Given the description of an element on the screen output the (x, y) to click on. 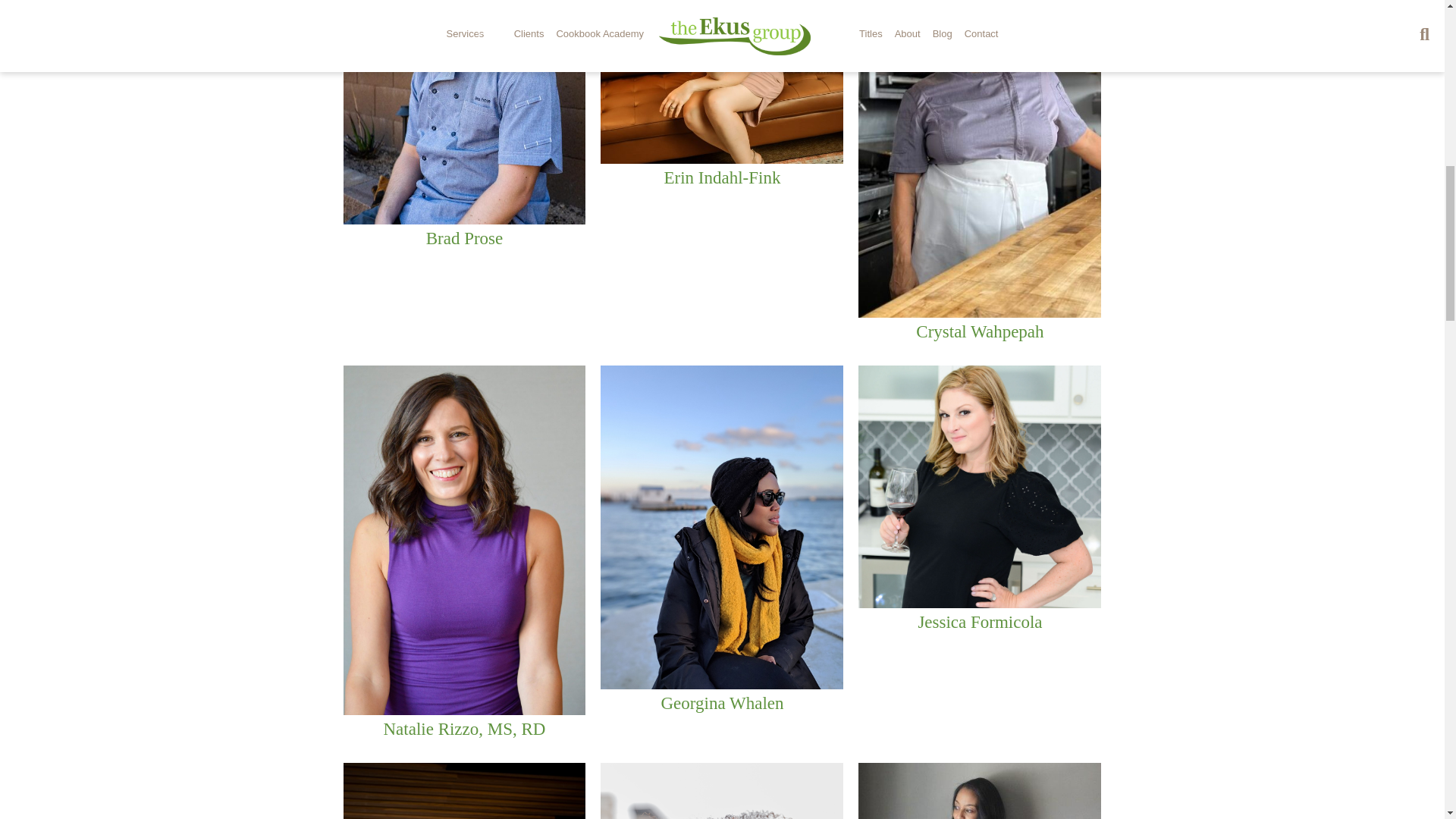
Crystal Wahpepah (979, 331)
Brad Prose (464, 238)
Georgina Whalen (722, 702)
Natalie Rizzo, MS, RD (463, 728)
Erin Indahl-Fink (721, 177)
